Given the description of an element on the screen output the (x, y) to click on. 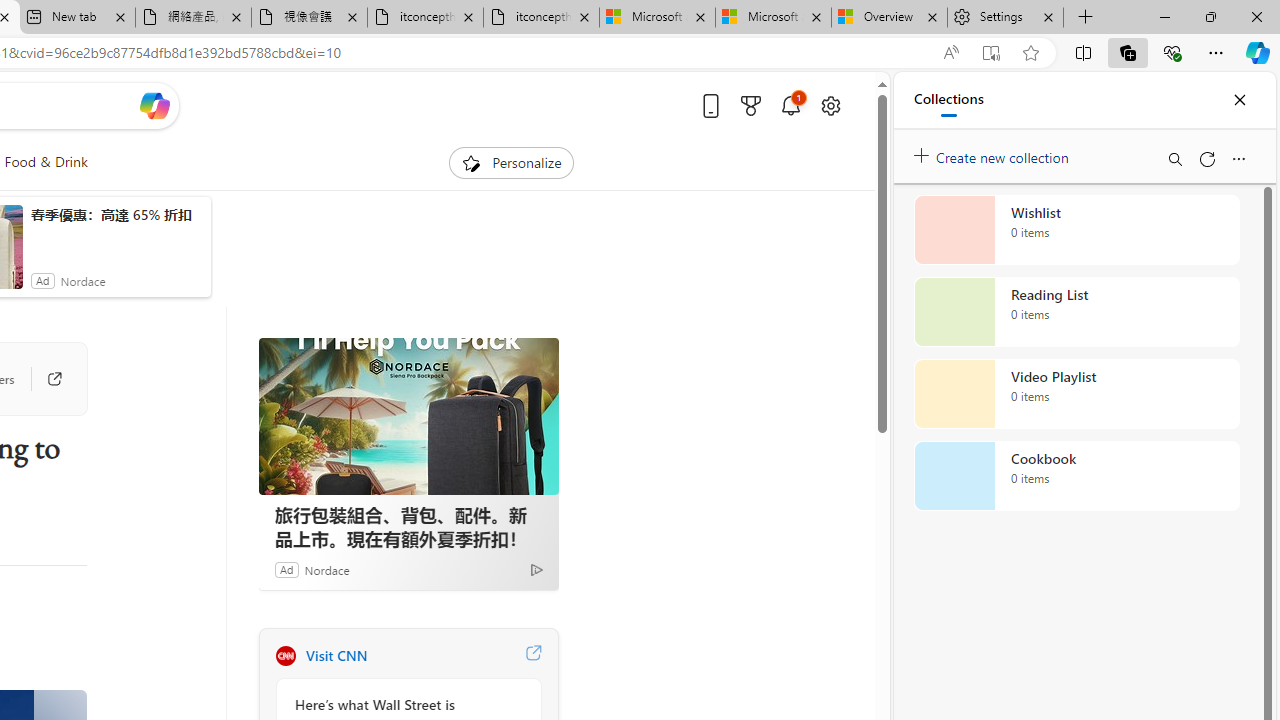
CNN (285, 655)
Ad Choice (535, 569)
Nordace (326, 569)
Microsoft rewards (749, 105)
Visit CNN website (532, 655)
itconcepthk.com/projector_solutions.mp4 (541, 17)
